Given the description of an element on the screen output the (x, y) to click on. 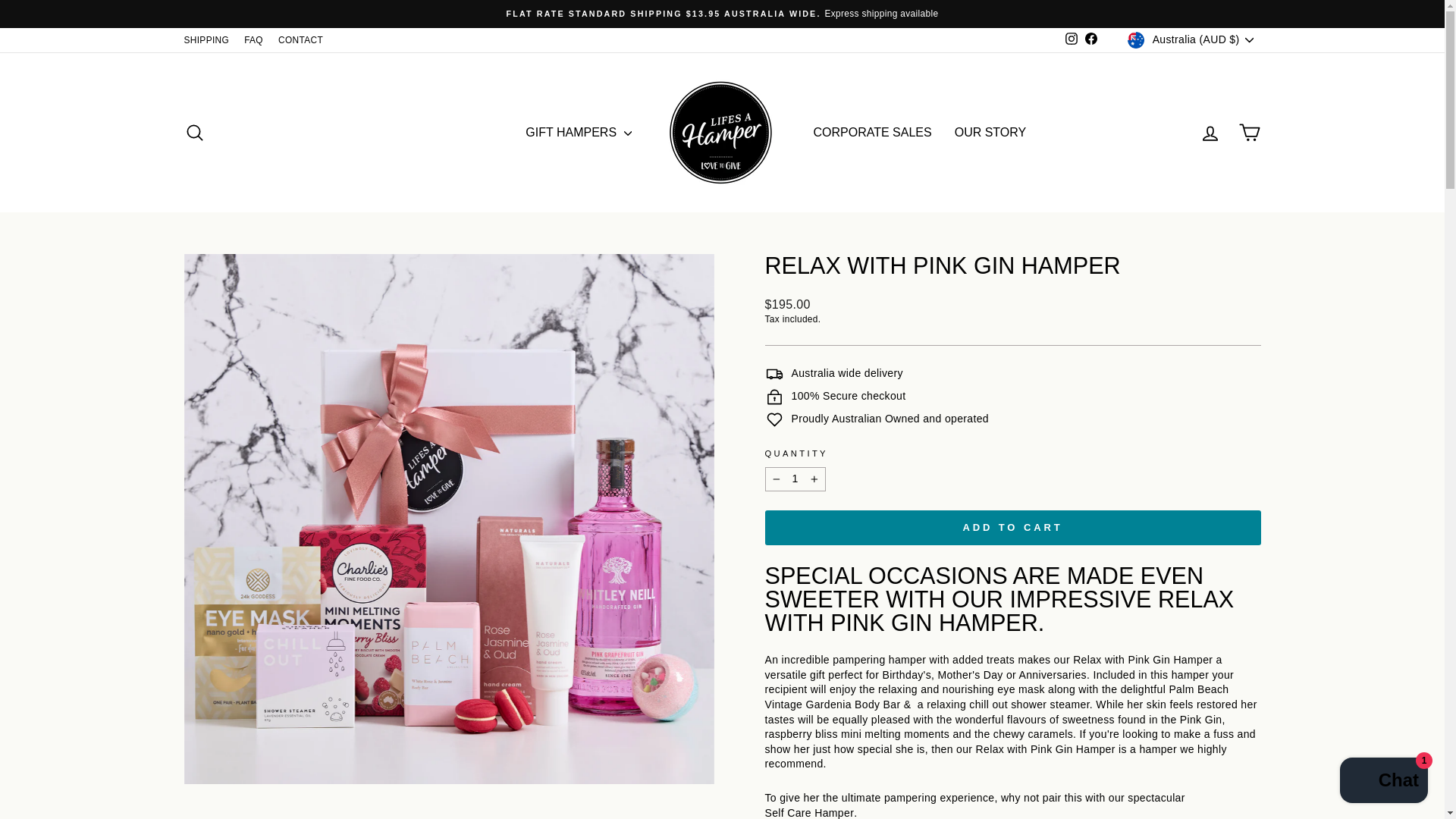
1 (794, 478)
instagram (1071, 38)
ACCOUNT (1210, 133)
Lifes A Hamper on Instagram (1071, 39)
Self Care Hamper (808, 812)
Shopify online store chat (1383, 781)
ICON-SEARCH (194, 132)
Lifes A Hamper on Facebook (1090, 39)
